Given the description of an element on the screen output the (x, y) to click on. 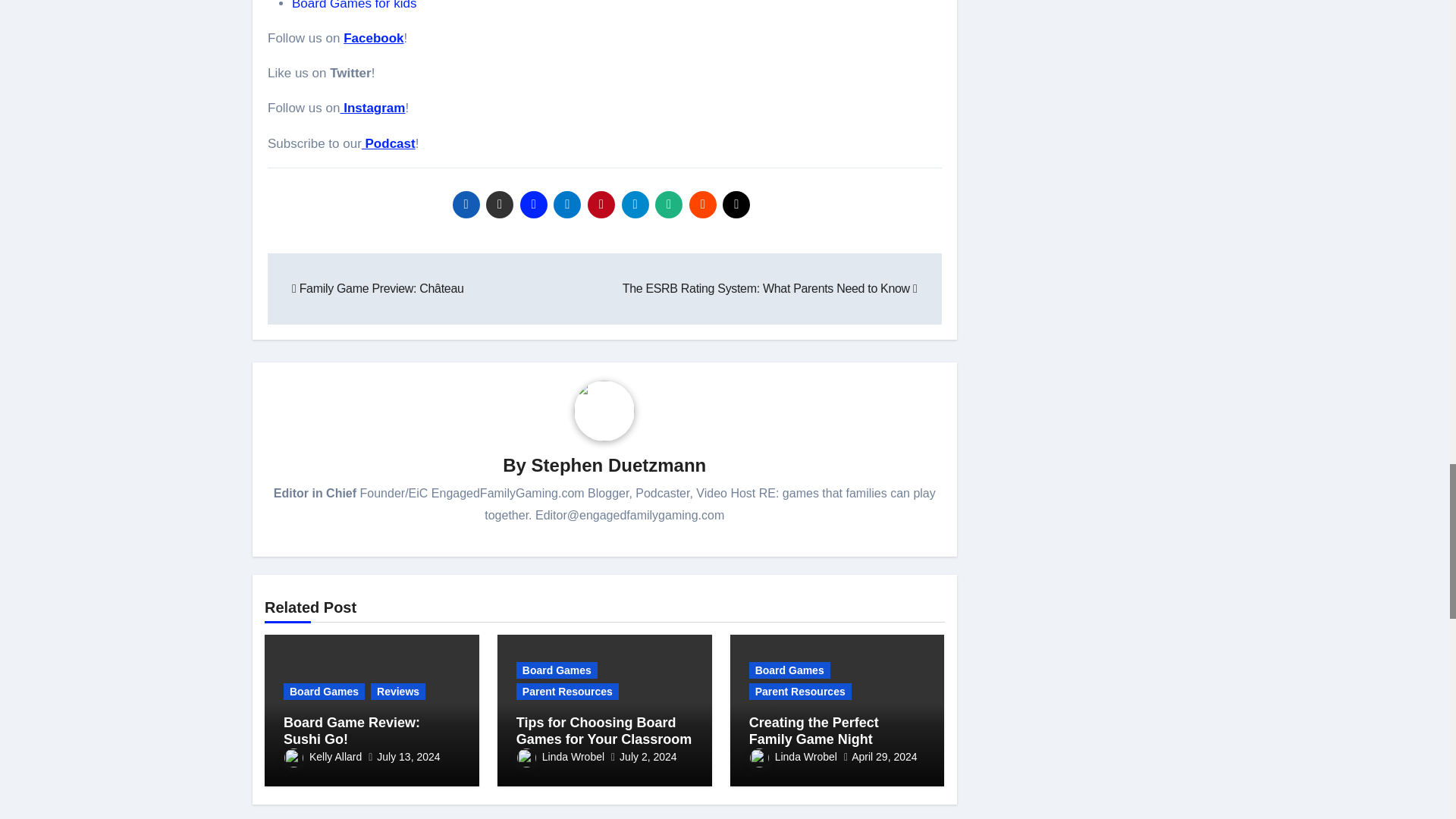
Board Games for kids (354, 5)
Permalink to: Board Game Review: Sushi Go! (351, 730)
Podcast (387, 143)
Instagram (371, 107)
Facebook (373, 38)
Permalink to: Creating the Perfect Family Game Night (814, 730)
